Given the description of an element on the screen output the (x, y) to click on. 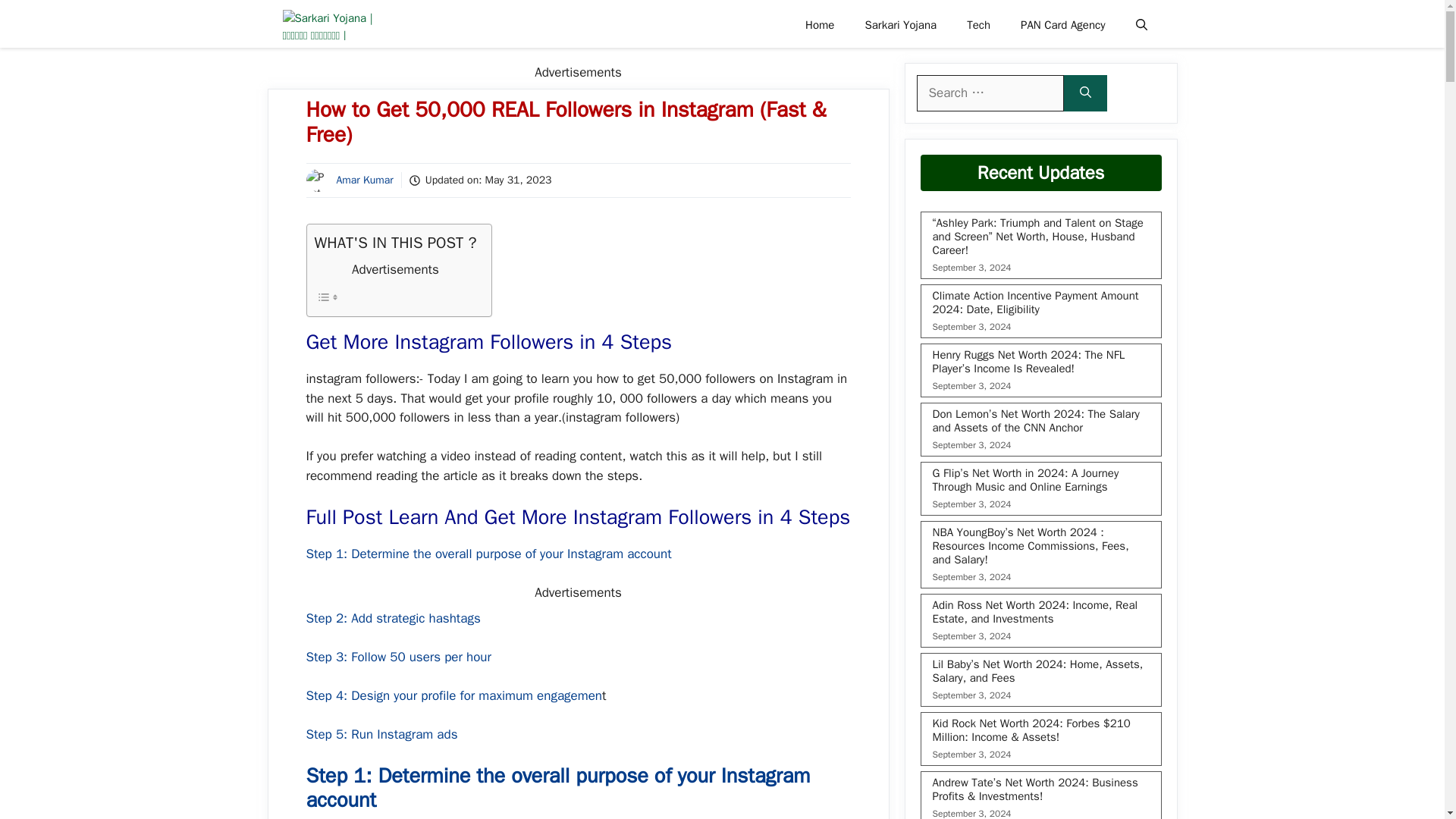
Step 3: Follow 50 users per hour (398, 657)
Home (819, 24)
PAN Card Agency (1062, 24)
Step 2: Add strategic hashtags (392, 618)
Search for: (988, 93)
Sarkari Yojana (900, 24)
Step 4: Design your profile for maximum engagemen (453, 695)
Amar Kumar (364, 179)
Tech (979, 24)
